Given the description of an element on the screen output the (x, y) to click on. 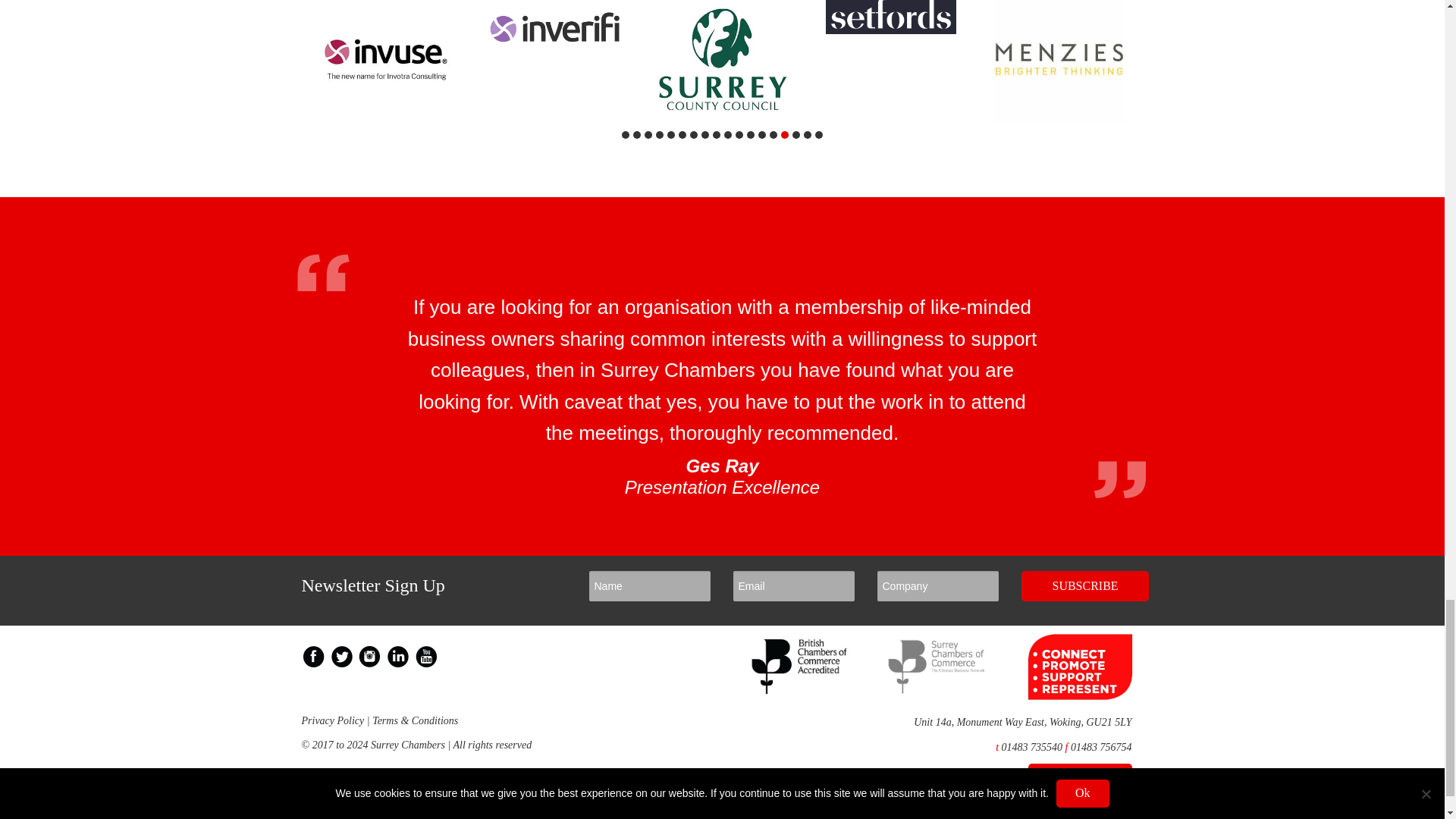
SUBSCRIBE (1085, 585)
BCC Accredited (801, 690)
Surrey Chambers (937, 690)
